Given the description of an element on the screen output the (x, y) to click on. 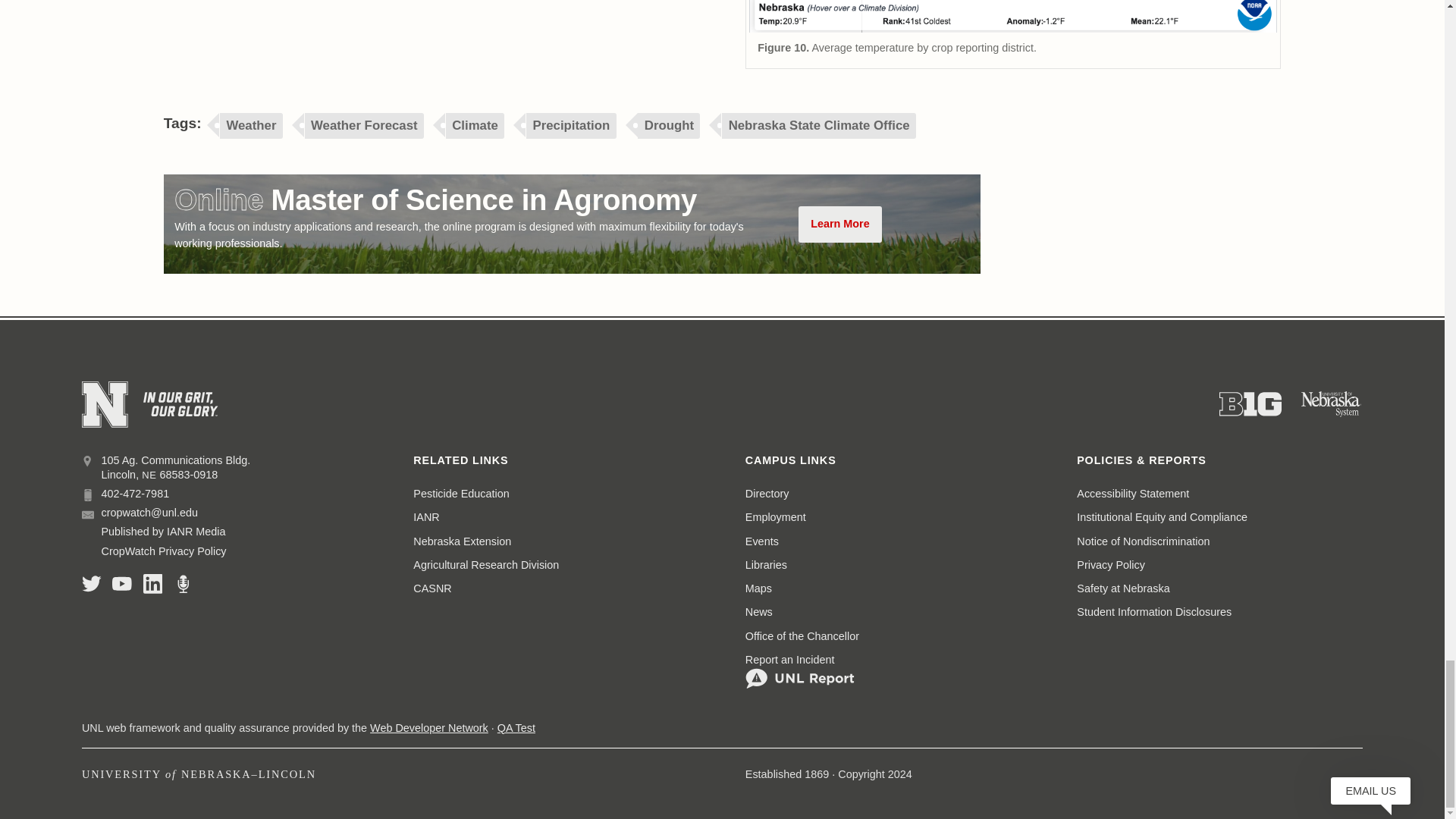
Nebraska (148, 474)
LinkedIn (152, 583)
Pesticide Education (460, 494)
IANR (426, 517)
